Given the description of an element on the screen output the (x, y) to click on. 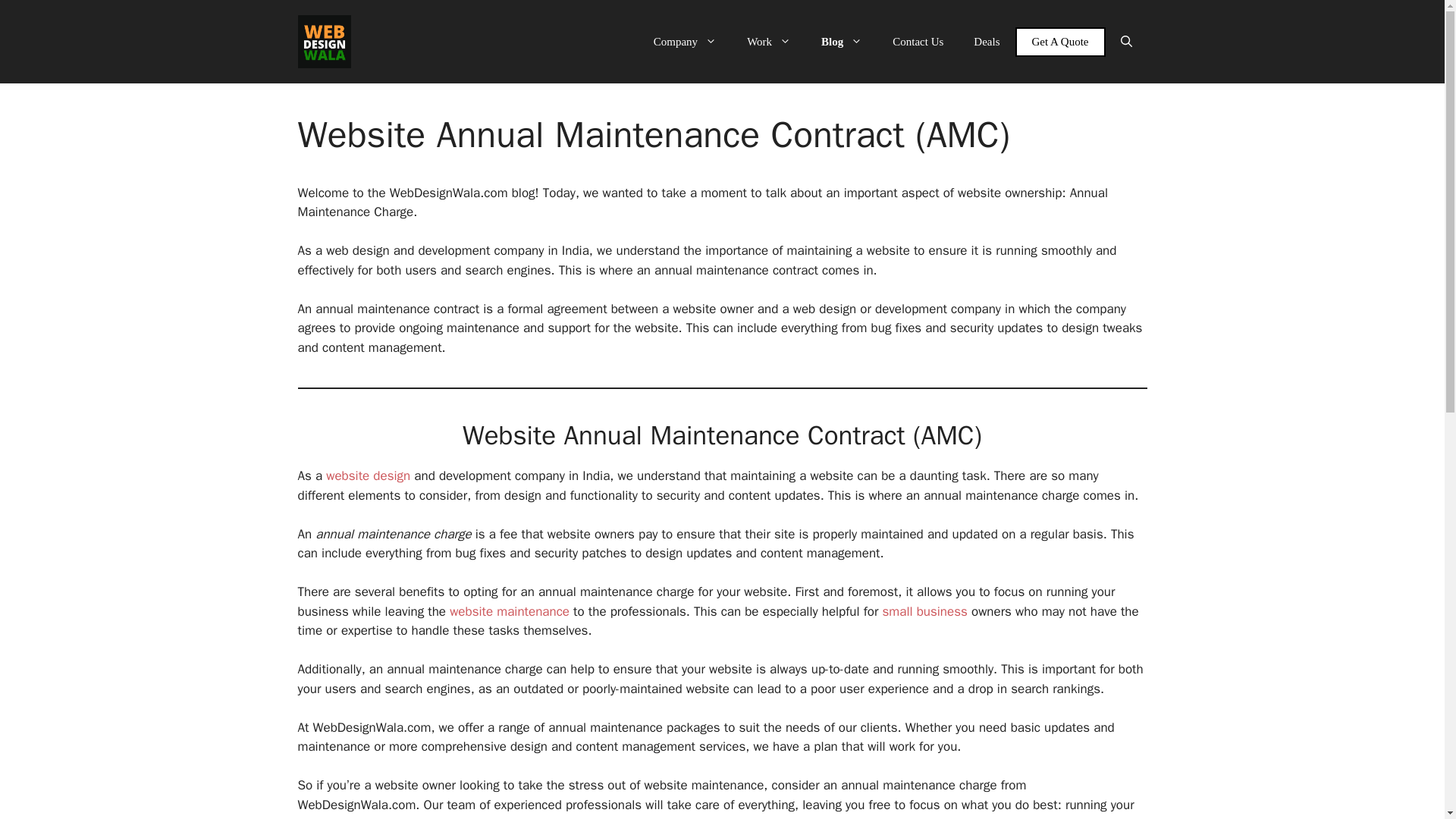
Company (685, 41)
Work (769, 41)
Blog (841, 41)
